Given the description of an element on the screen output the (x, y) to click on. 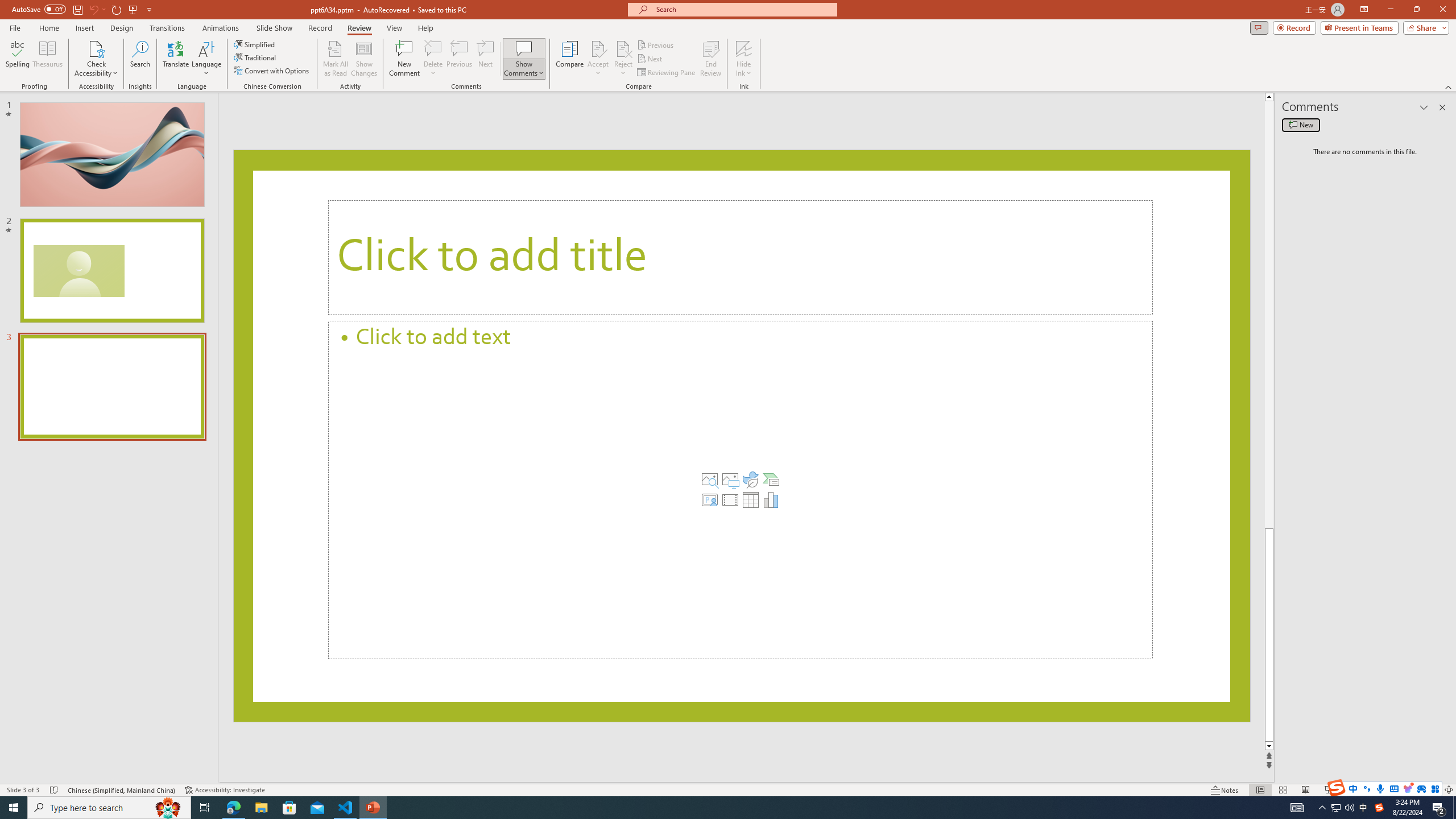
Reject (622, 58)
Reject Change (622, 48)
Language (206, 58)
Hide Ink (743, 48)
Compare (569, 58)
Check Accessibility (95, 58)
Traditional (255, 56)
